Given the description of an element on the screen output the (x, y) to click on. 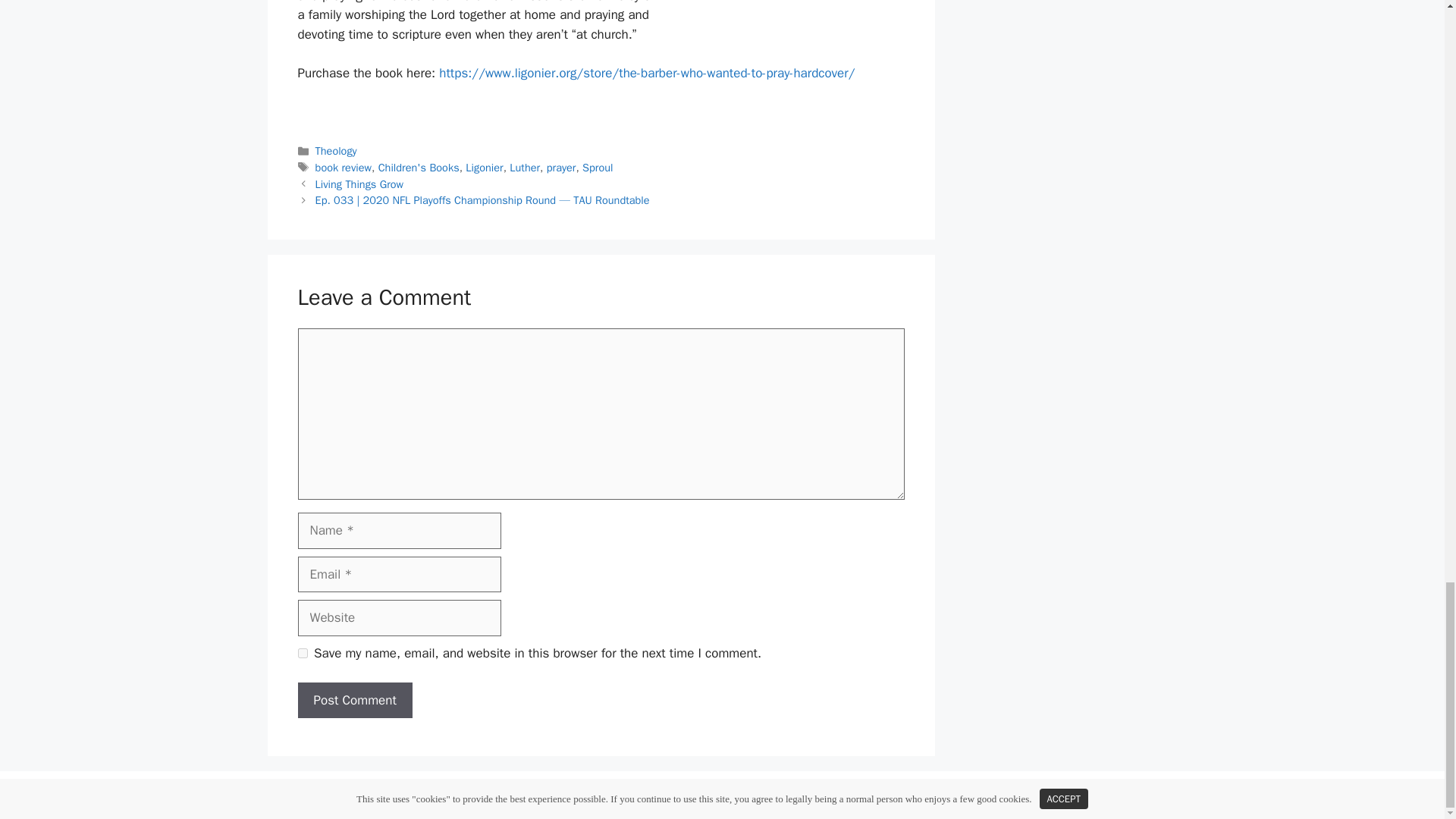
Post Comment (354, 700)
yes (302, 653)
